Given the description of an element on the screen output the (x, y) to click on. 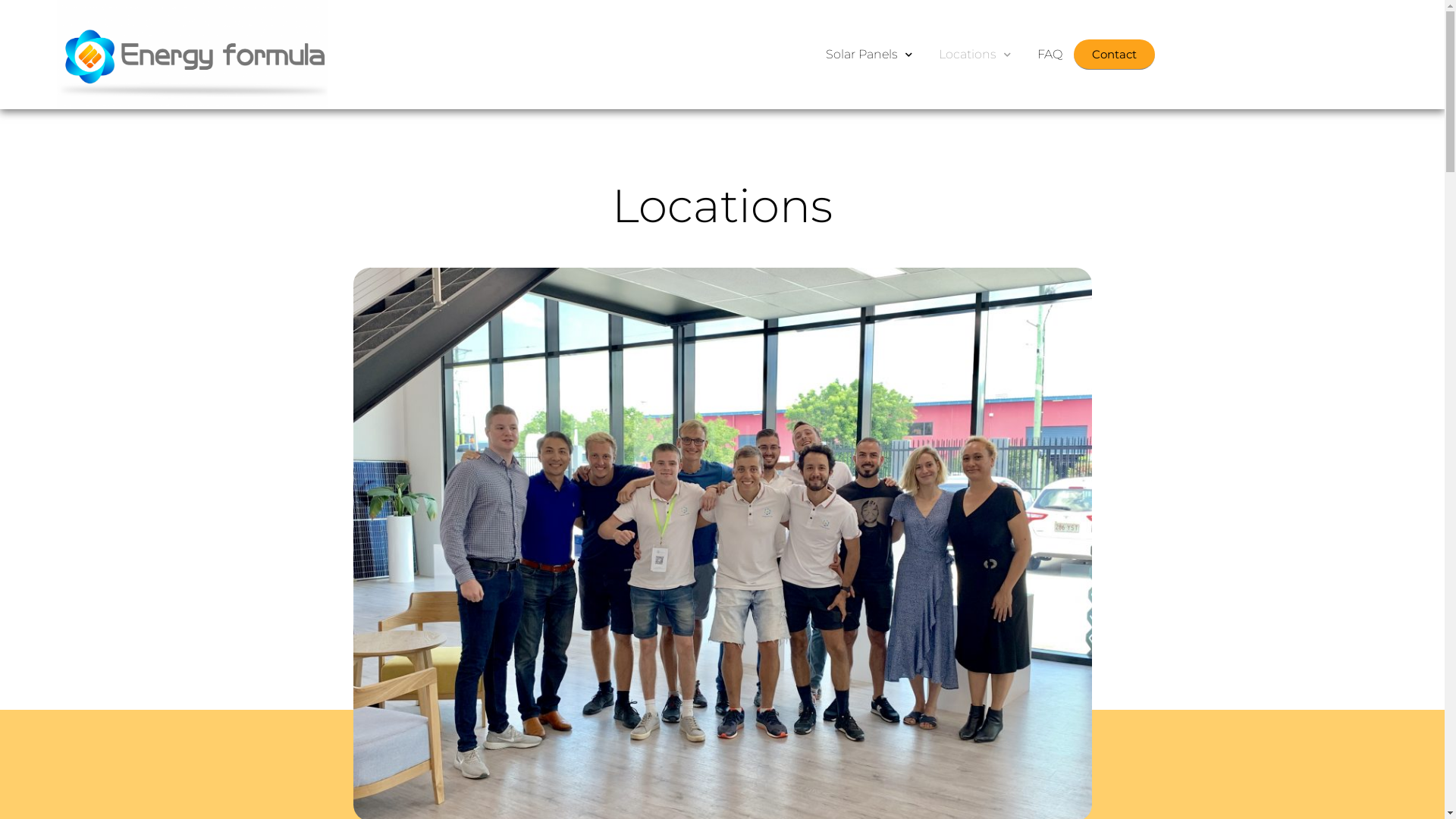
Contact Element type: text (1113, 54)
FAQ Element type: text (1049, 54)
Locations Element type: text (974, 54)
Solar Panels Element type: text (868, 54)
